Given the description of an element on the screen output the (x, y) to click on. 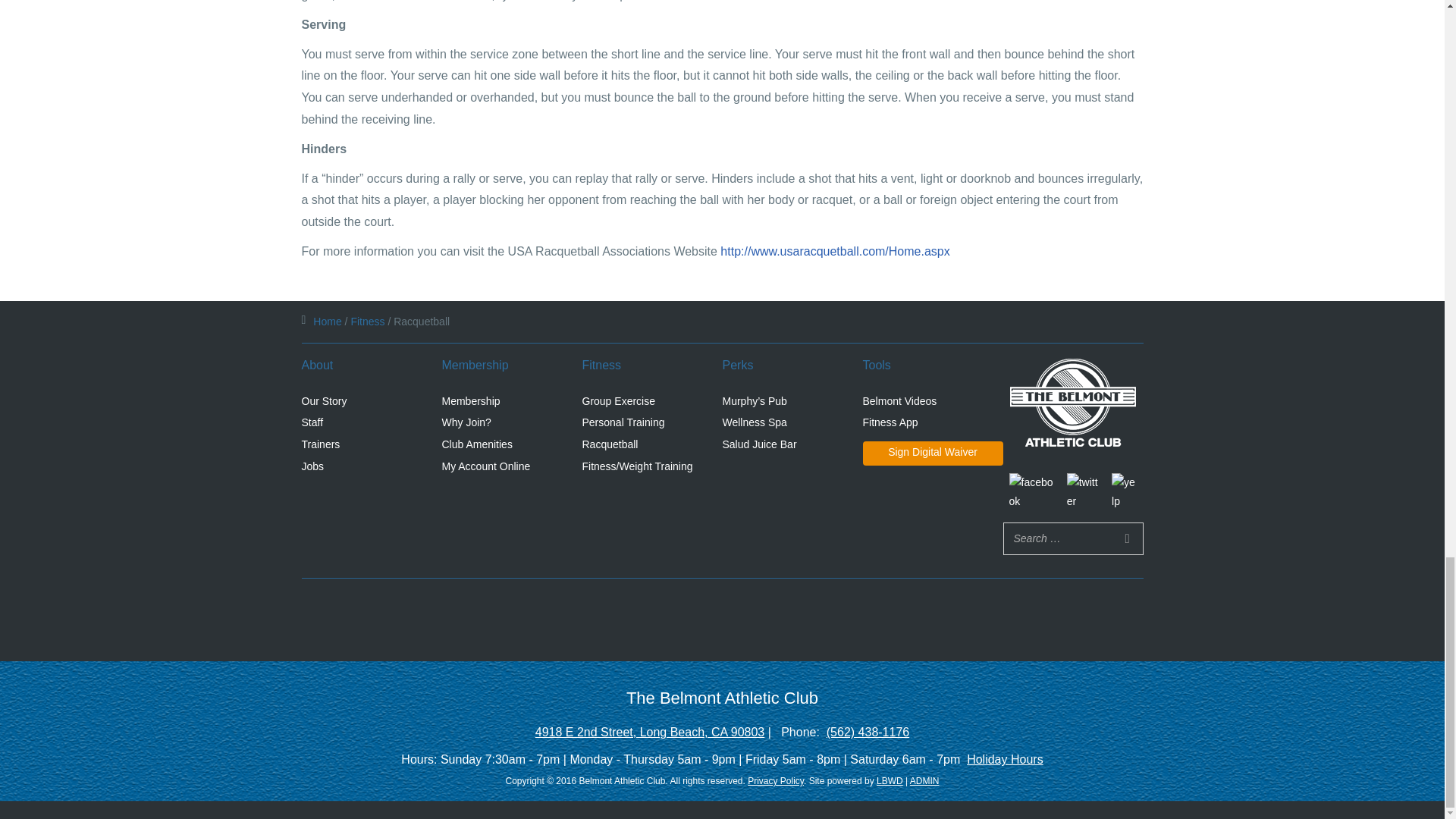
Facebook (1031, 492)
Home (326, 321)
Twitter (1083, 492)
Our Story (324, 401)
Fitness (367, 321)
Staff (312, 422)
